Given the description of an element on the screen output the (x, y) to click on. 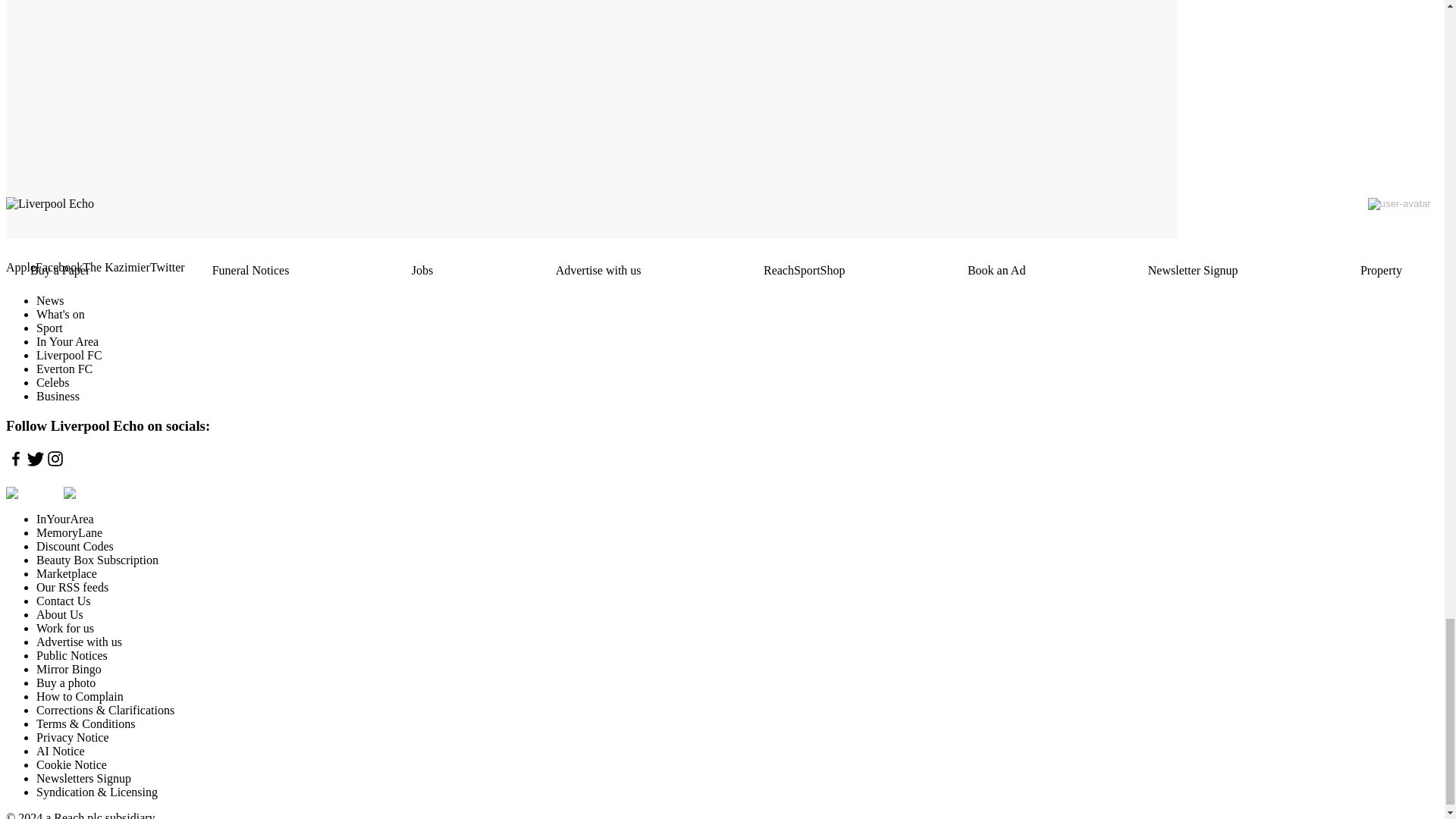
Facebook (58, 267)
Celebs (52, 382)
Apple (19, 267)
Everton FC (64, 368)
Sport (49, 327)
The Kazimier (115, 267)
What's on (60, 314)
In Your Area (67, 341)
Twitter (166, 267)
Liverpool FC (68, 354)
